Given the description of an element on the screen output the (x, y) to click on. 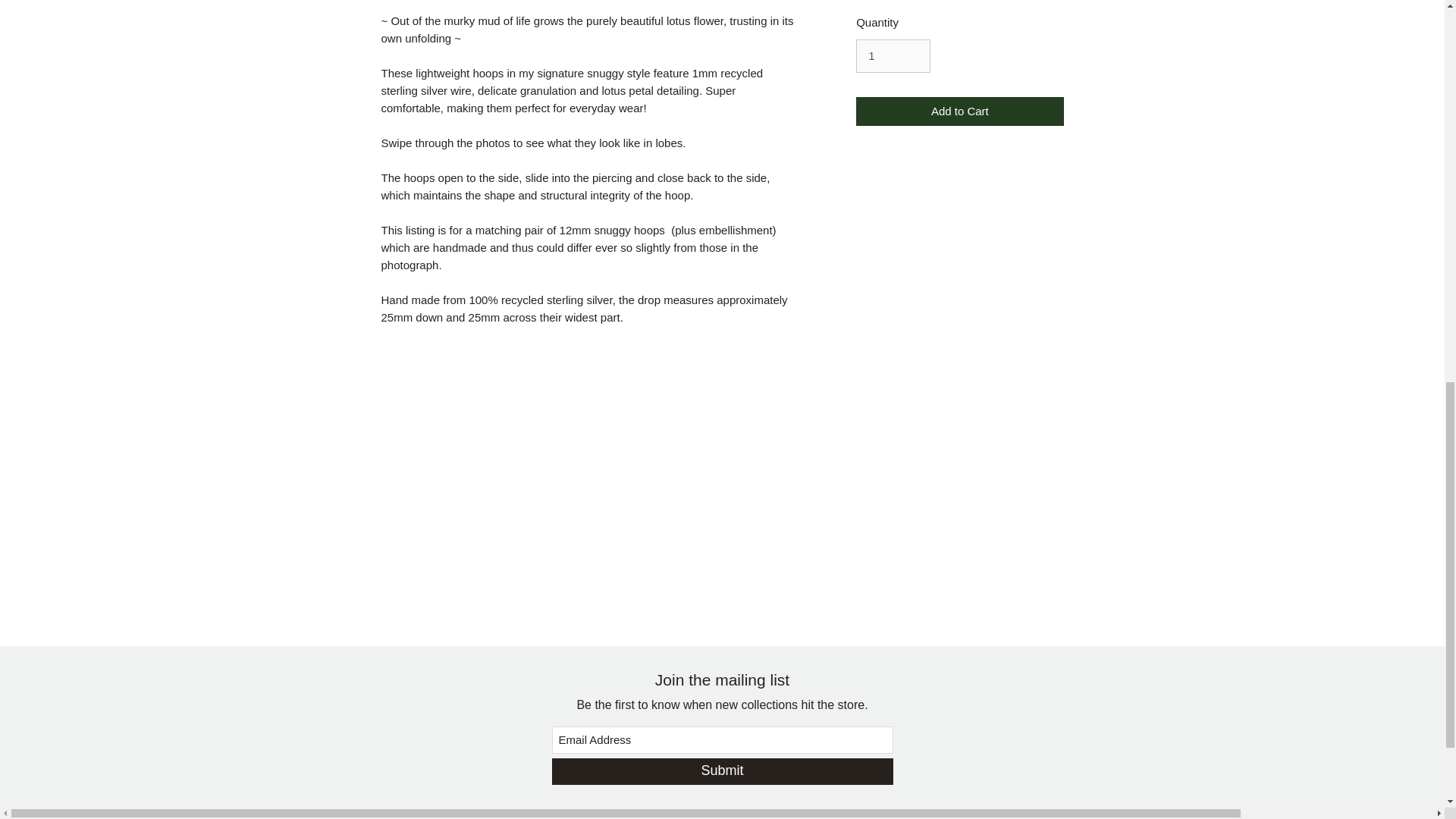
1 (893, 55)
Add to Cart (959, 111)
Submit (722, 771)
